Given the description of an element on the screen output the (x, y) to click on. 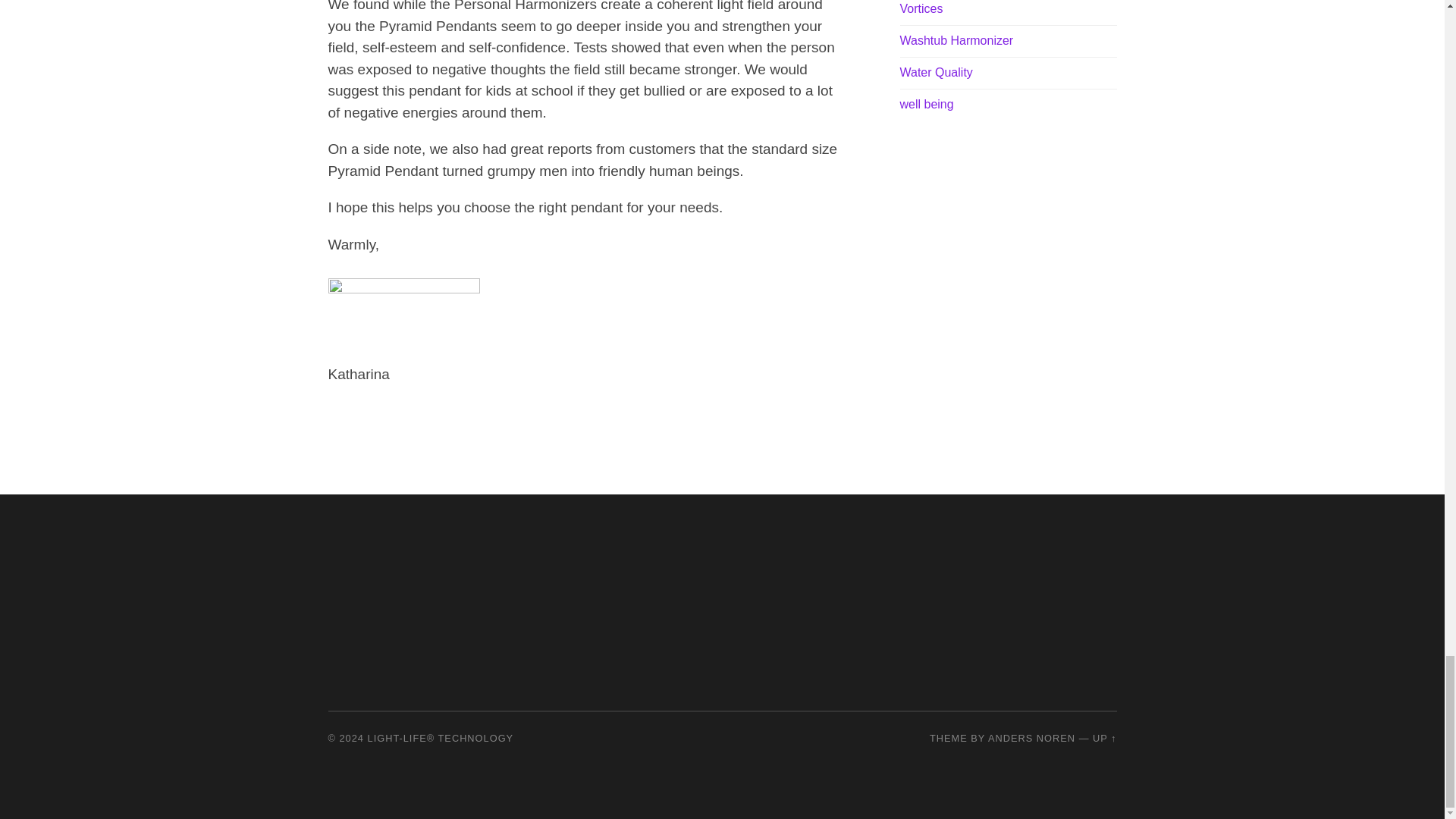
To the top (1104, 737)
